Given the description of an element on the screen output the (x, y) to click on. 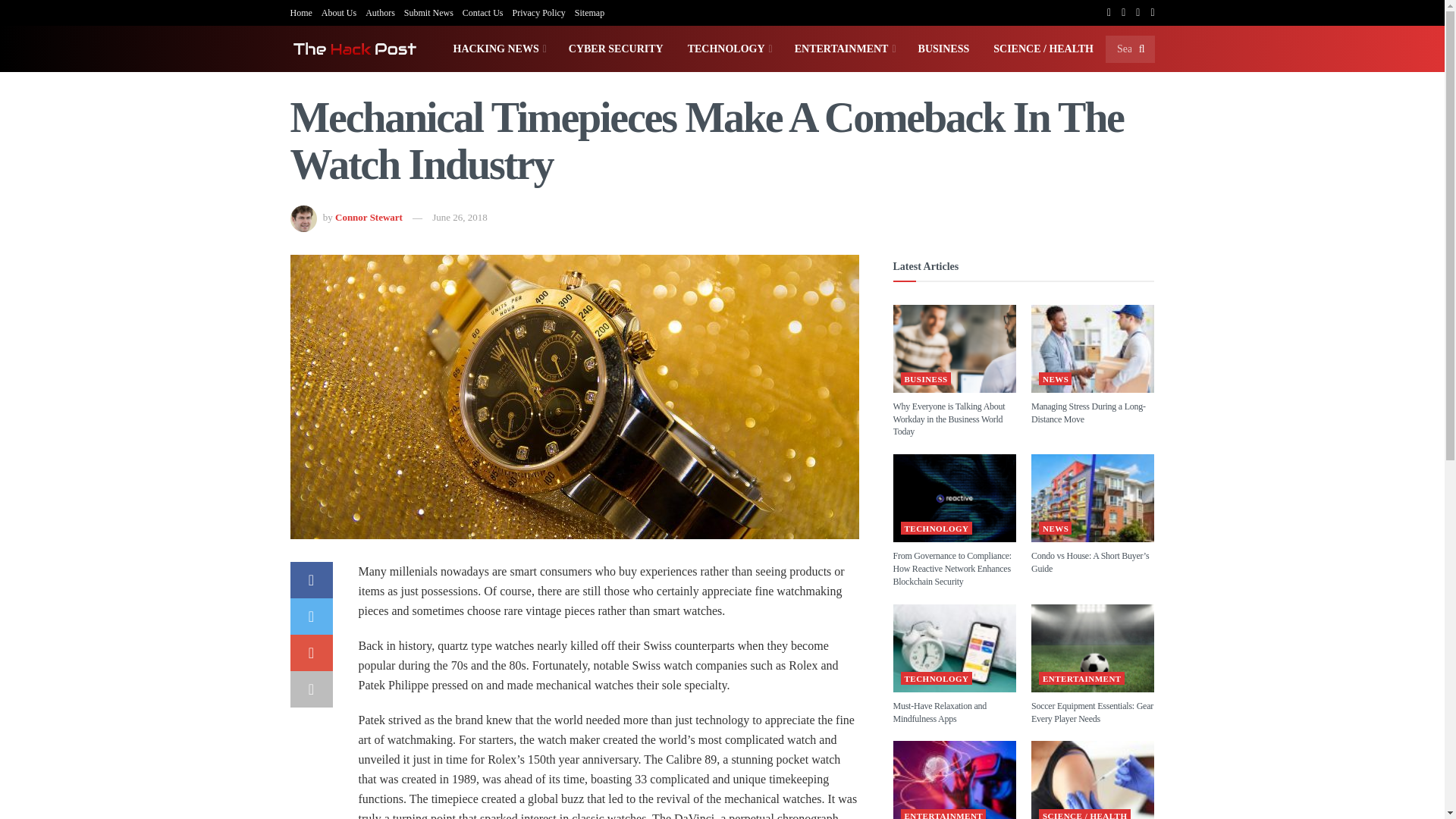
Submit News (428, 12)
HACKING NEWS (498, 48)
Hacking News (498, 48)
Privacy Policy (539, 12)
CYBER SECURITY (615, 48)
Contact Us (483, 12)
About Us (338, 12)
Technology News (729, 48)
ENTERTAINMENT (844, 48)
June 26, 2018 (459, 216)
Contact Us (483, 12)
TECHNOLOGY (729, 48)
Sitemap (589, 12)
Privacy Policy (539, 12)
Authors (379, 12)
